Given the description of an element on the screen output the (x, y) to click on. 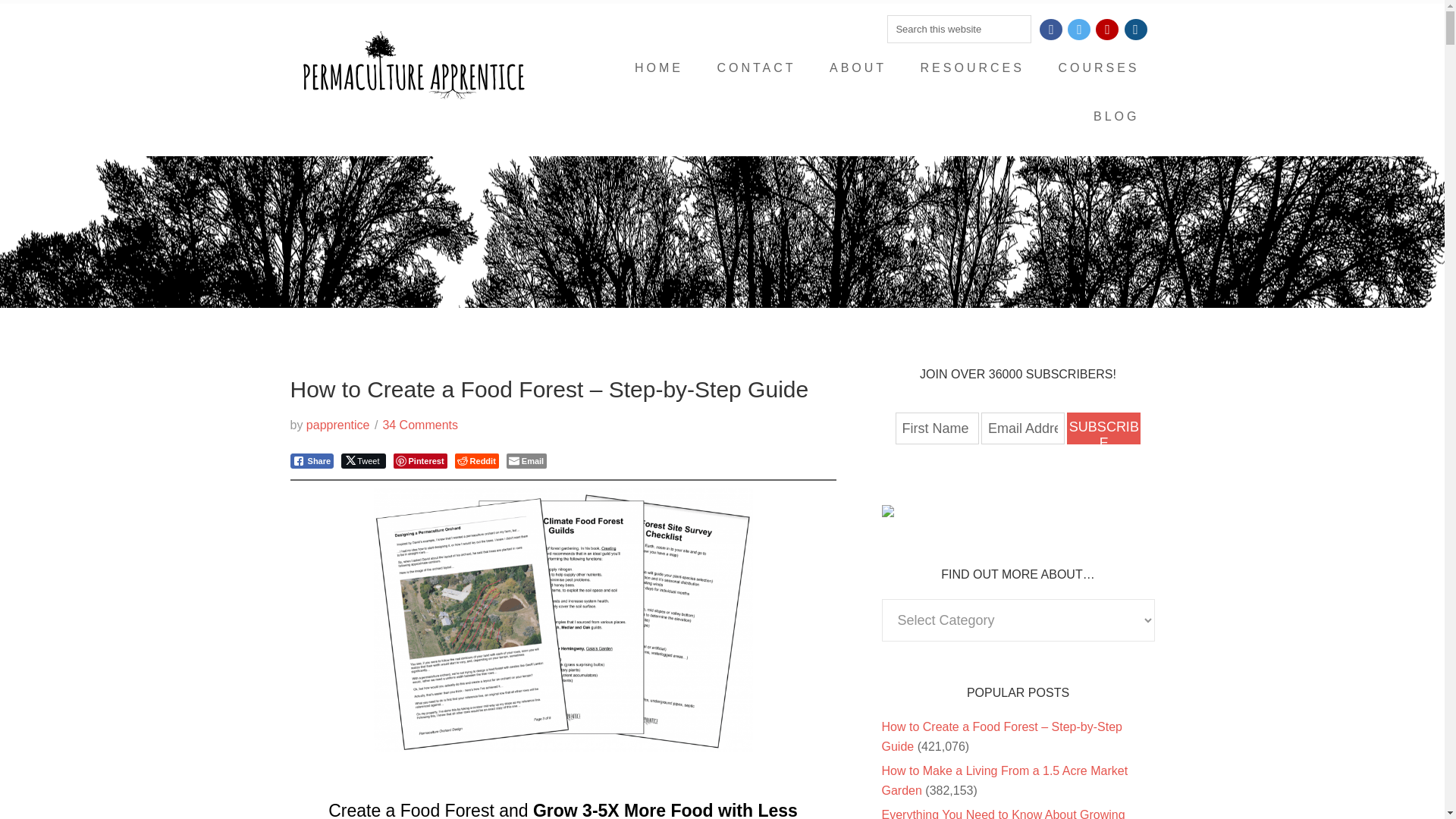
papprentice (337, 424)
HOME (659, 68)
34 Comments (419, 424)
BLOG (1116, 116)
Pinterest (419, 460)
COURSES (1098, 68)
Share (311, 460)
ABOUT (857, 68)
RESOURCES (972, 68)
Reddit (476, 460)
Tweet (362, 460)
CONTACT (755, 68)
